Given the description of an element on the screen output the (x, y) to click on. 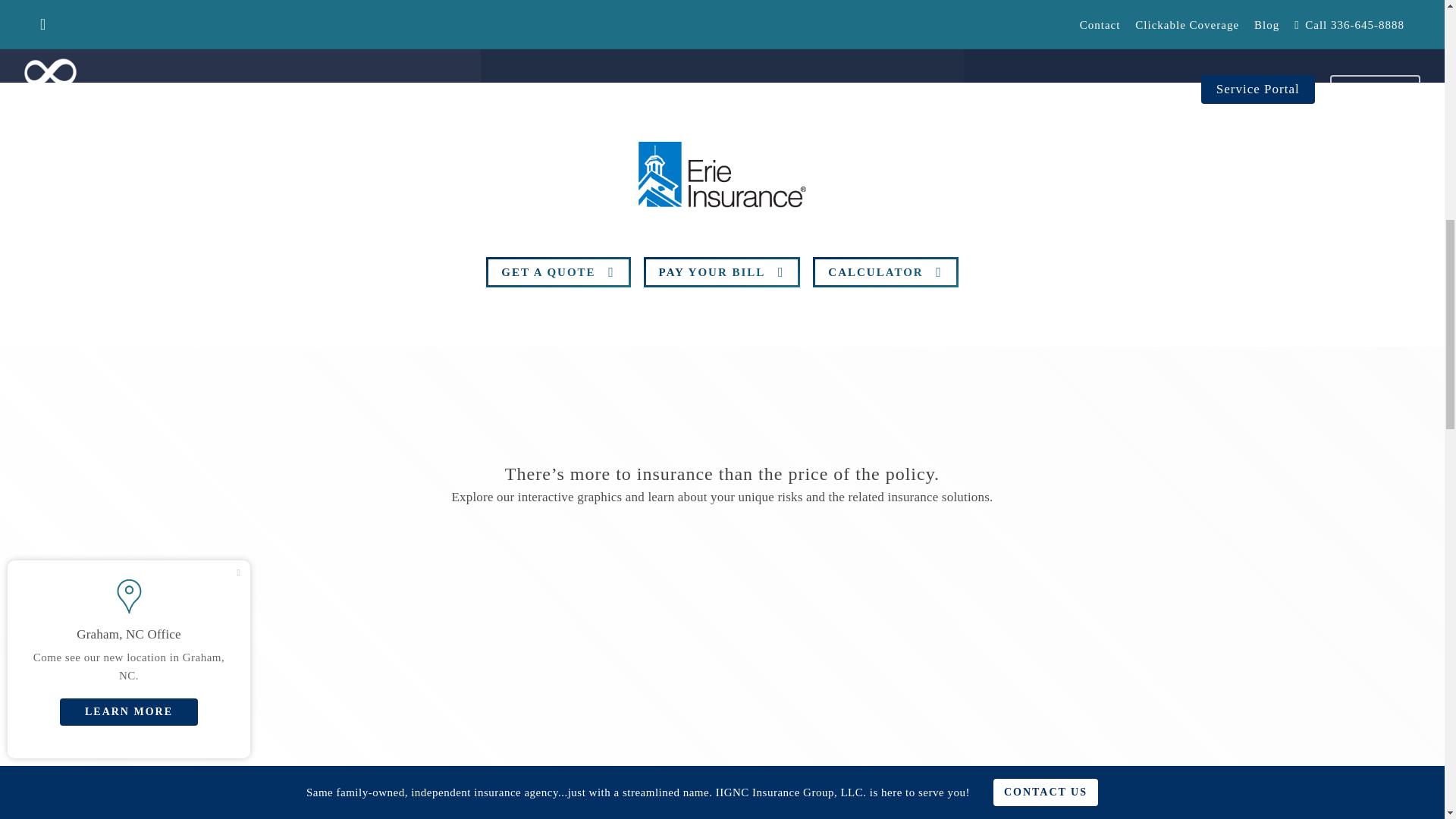
GET A QUOTE (558, 272)
PAY YOUR BILL (721, 272)
CALCULATOR (885, 272)
